Given the description of an element on the screen output the (x, y) to click on. 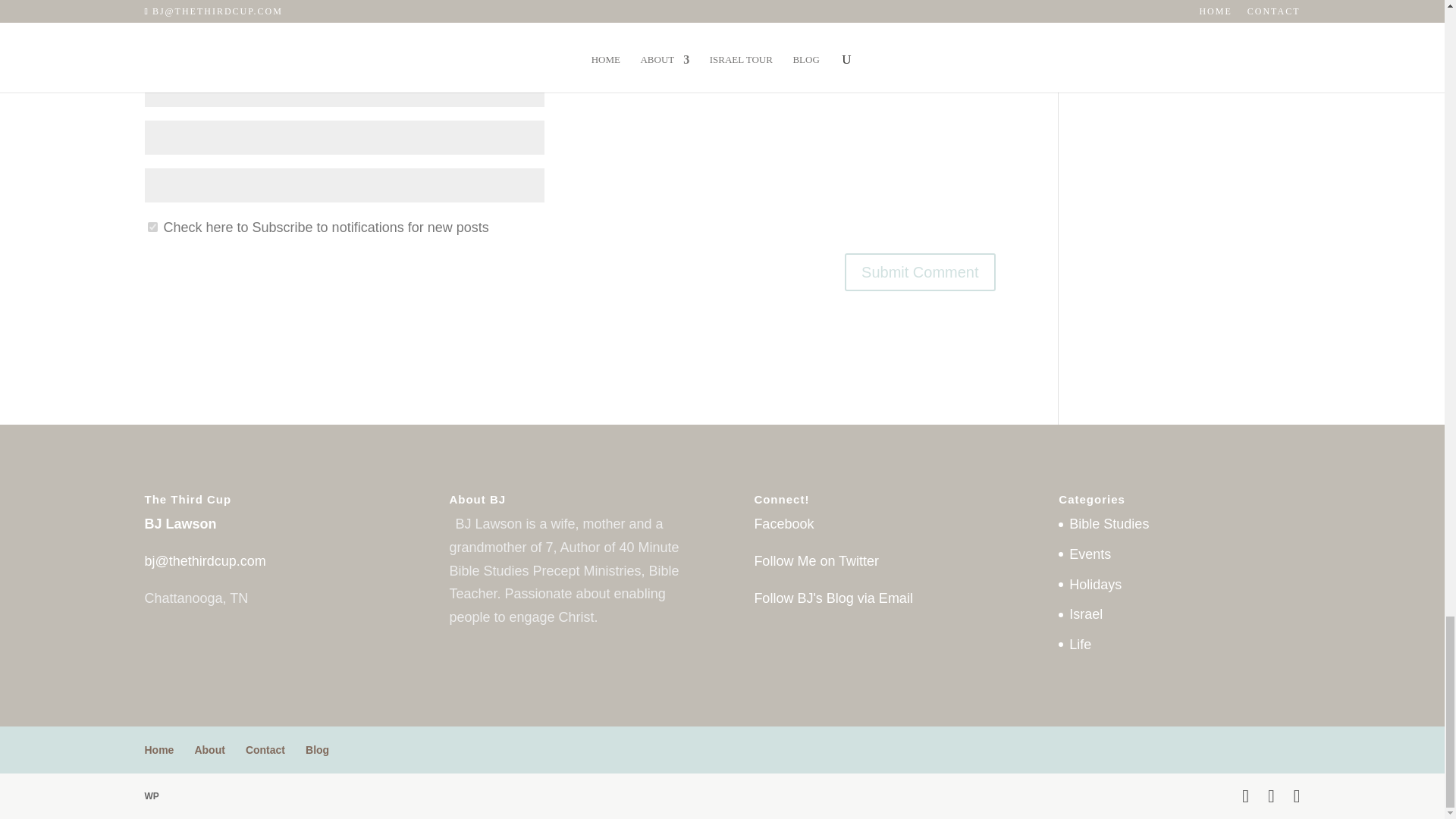
Follow Me on Twitter (816, 560)
Follow me on Facebook (783, 523)
1 (152, 226)
BJ Lawson (179, 523)
Submit Comment (919, 272)
Follow BJ's Blog via Email (833, 598)
Submit Comment (919, 272)
